Given the description of an element on the screen output the (x, y) to click on. 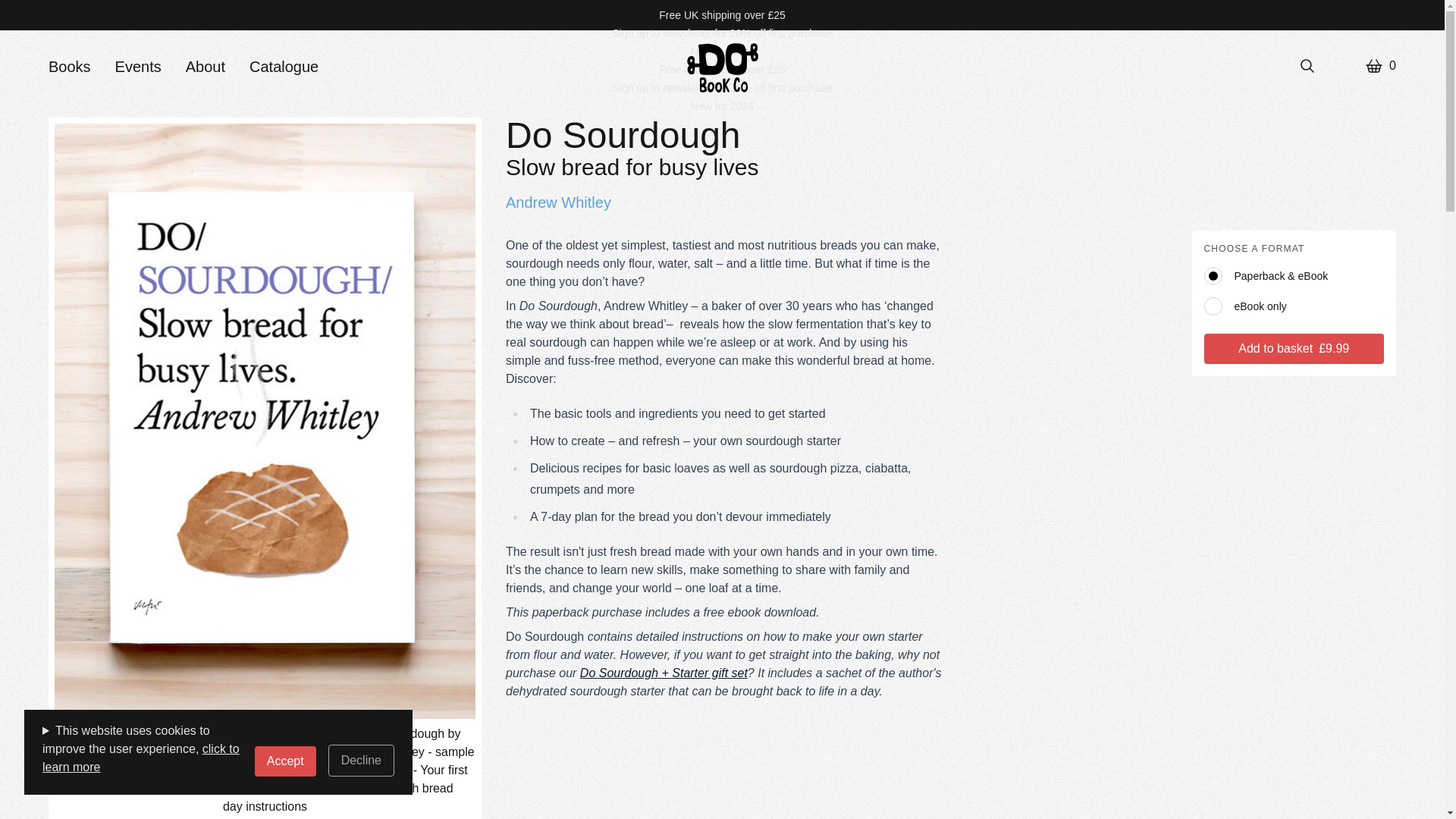
About (205, 67)
eBook only (1294, 306)
View basket (1380, 65)
Search (1307, 65)
Events (138, 67)
Catalogue (283, 67)
Books (69, 67)
0 (1380, 65)
New for 2024 (722, 105)
New for 2024 (722, 51)
